Given the description of an element on the screen output the (x, y) to click on. 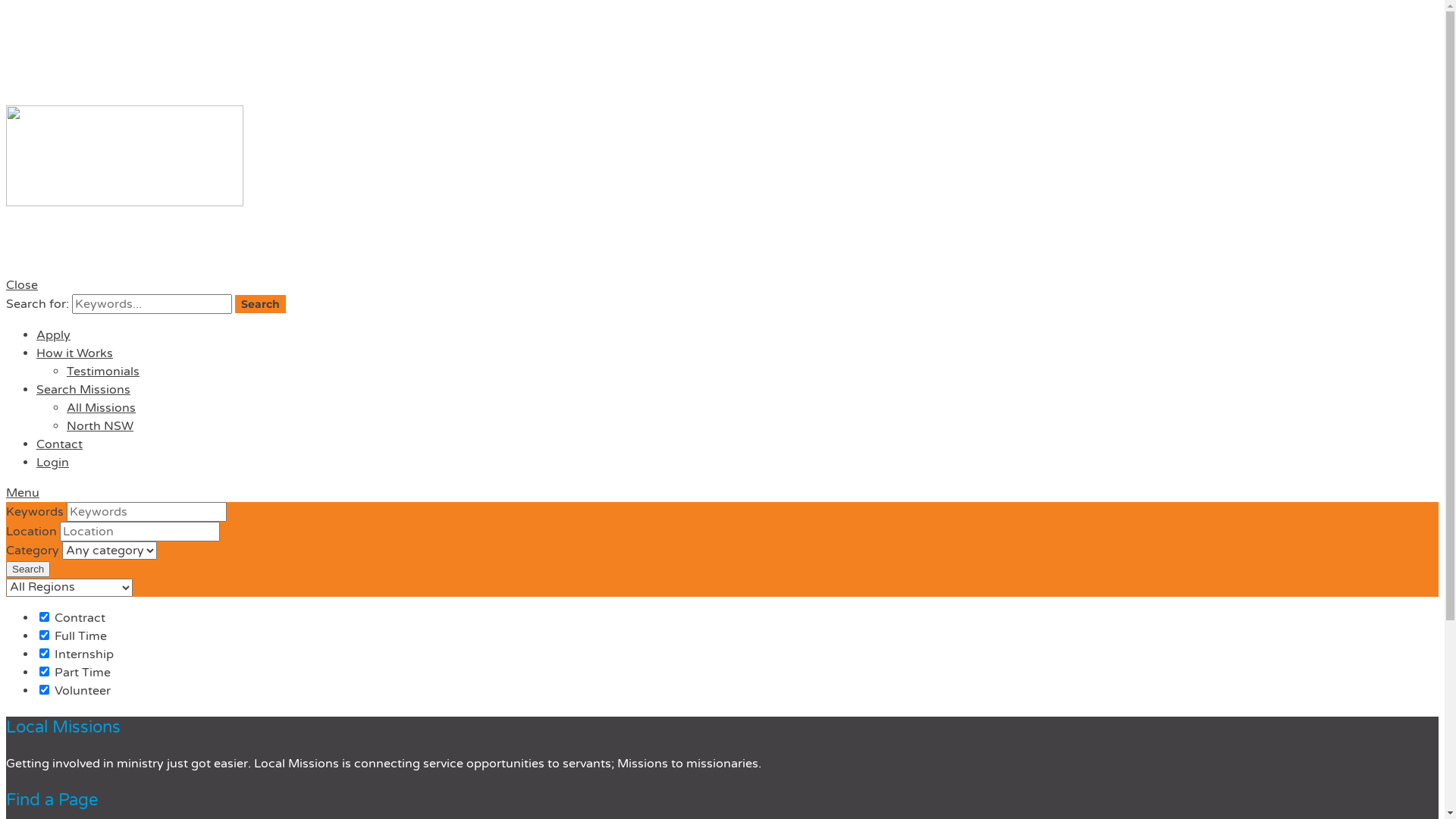
How it Works Element type: text (74, 352)
Testimonials Element type: text (102, 371)
Close Element type: text (21, 284)
Search Missions Element type: text (83, 389)
Apply Element type: text (53, 334)
North NSW Element type: text (99, 425)
Menu Element type: text (22, 492)
Contact Element type: text (59, 443)
All Missions Element type: text (100, 407)
Login Element type: text (52, 462)
Local Missions
Creating a culture of service Element type: text (722, 182)
Search Element type: text (28, 569)
Search Element type: text (260, 303)
